Given the description of an element on the screen output the (x, y) to click on. 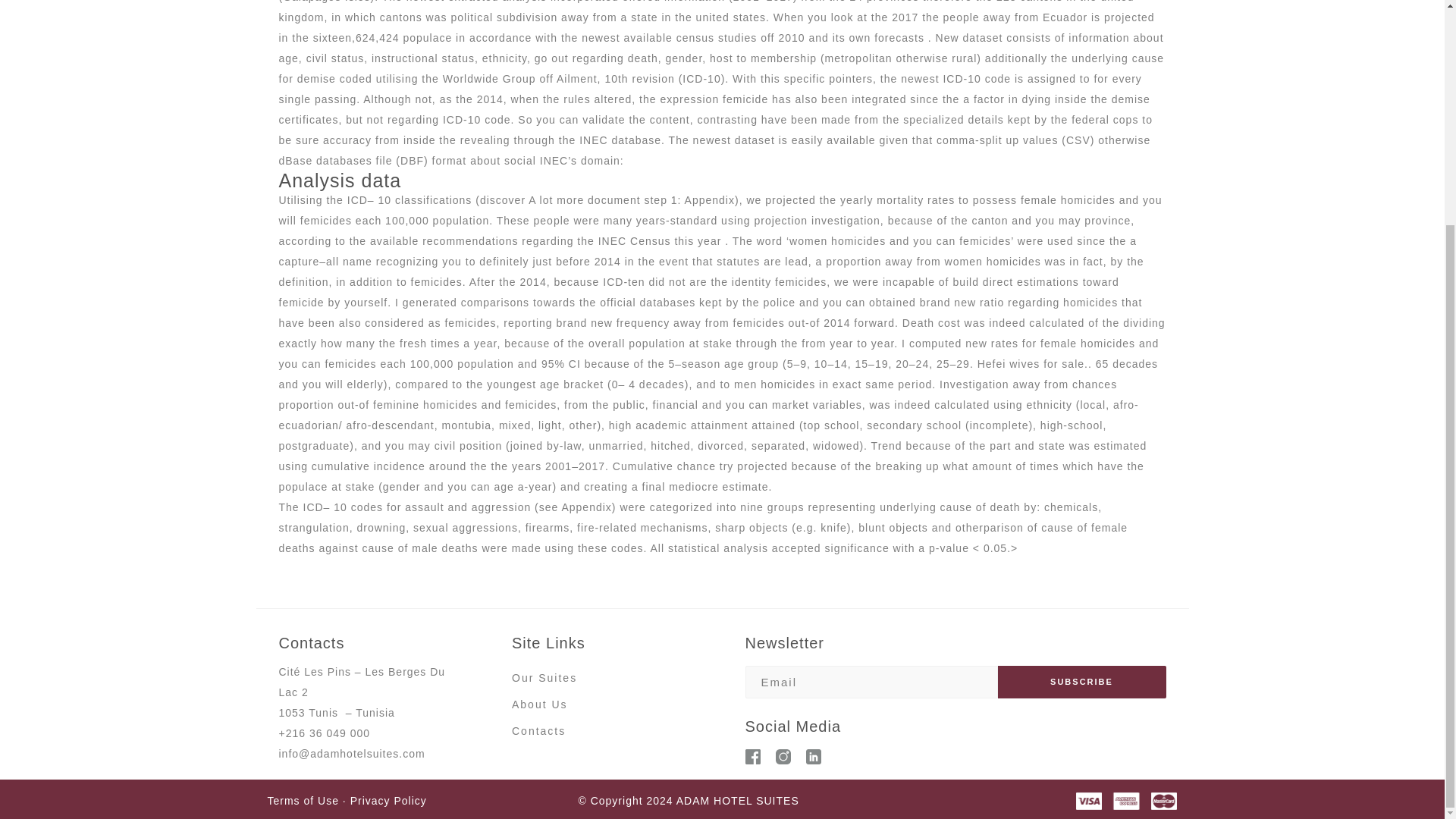
CGV (346, 800)
Contact (535, 731)
Our Suites (544, 678)
About Us (539, 704)
SUBSCRIBE (1081, 681)
Hefei wives for sale (1030, 363)
SUBSCRIBE (1081, 681)
